Given the description of an element on the screen output the (x, y) to click on. 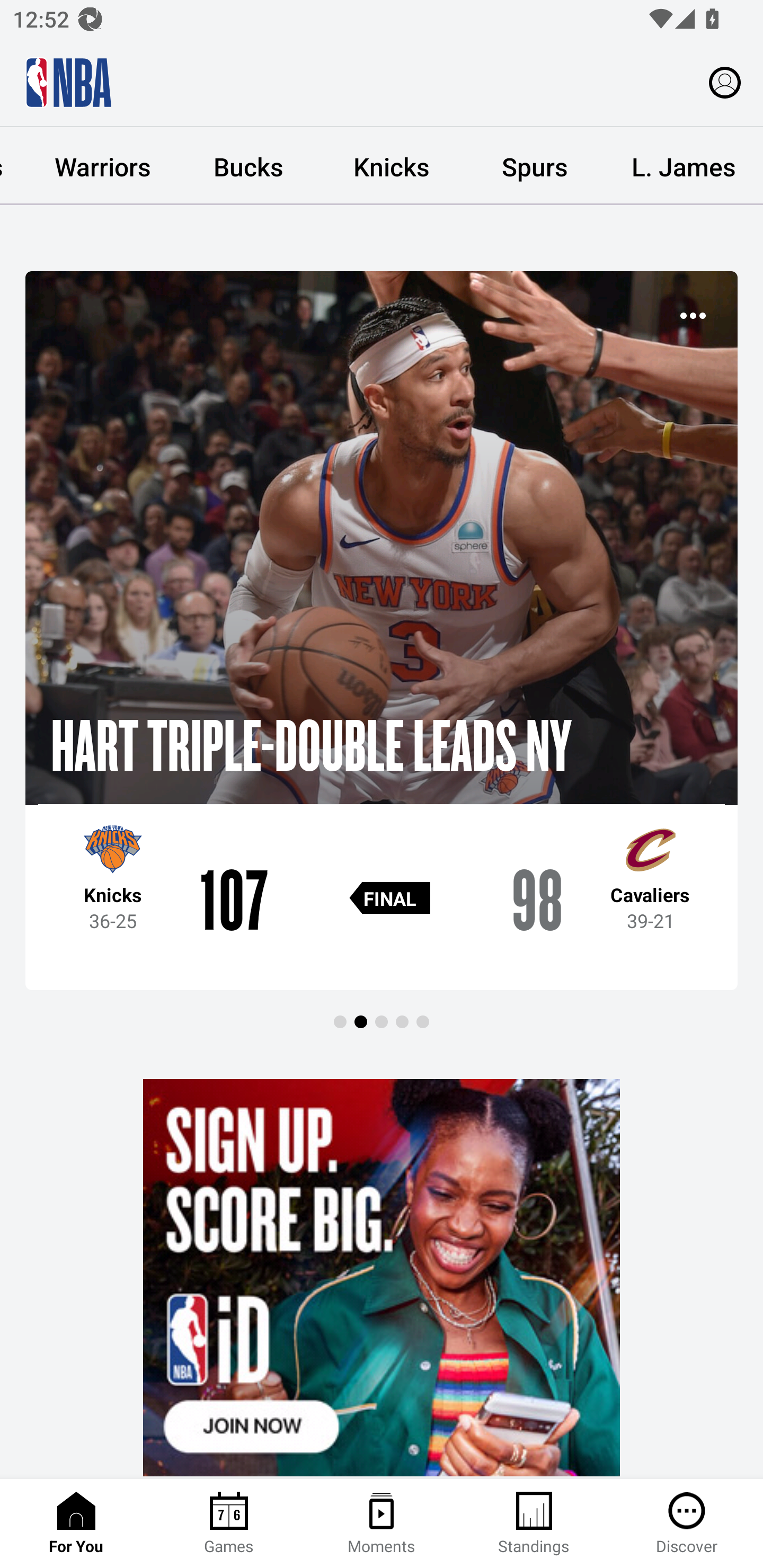
Profile (724, 81)
Warriors (102, 166)
Bucks (248, 166)
Knicks (391, 166)
Spurs (534, 166)
L. James (683, 166)
Games (228, 1523)
Moments (381, 1523)
Standings (533, 1523)
Discover (686, 1523)
